Given the description of an element on the screen output the (x, y) to click on. 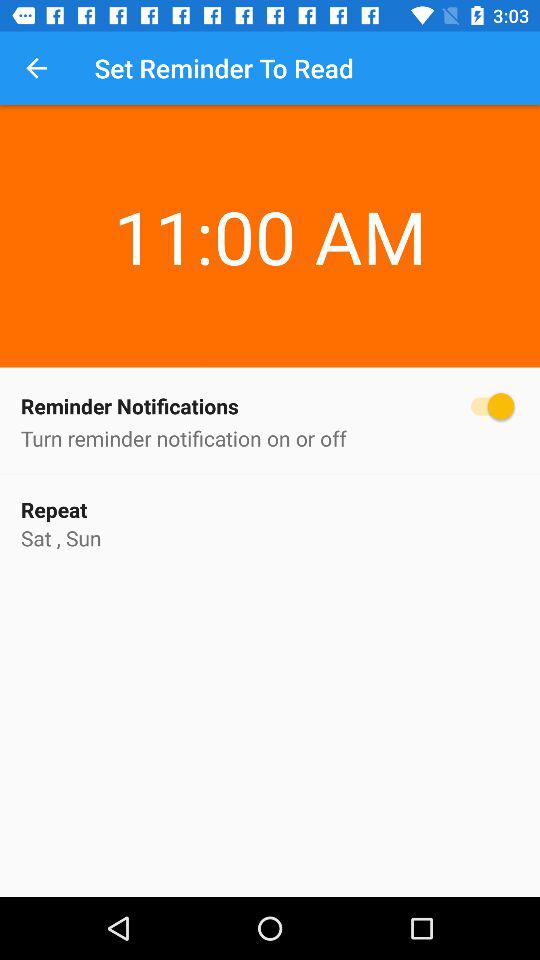
launch the 11:00 am item (270, 199)
